Given the description of an element on the screen output the (x, y) to click on. 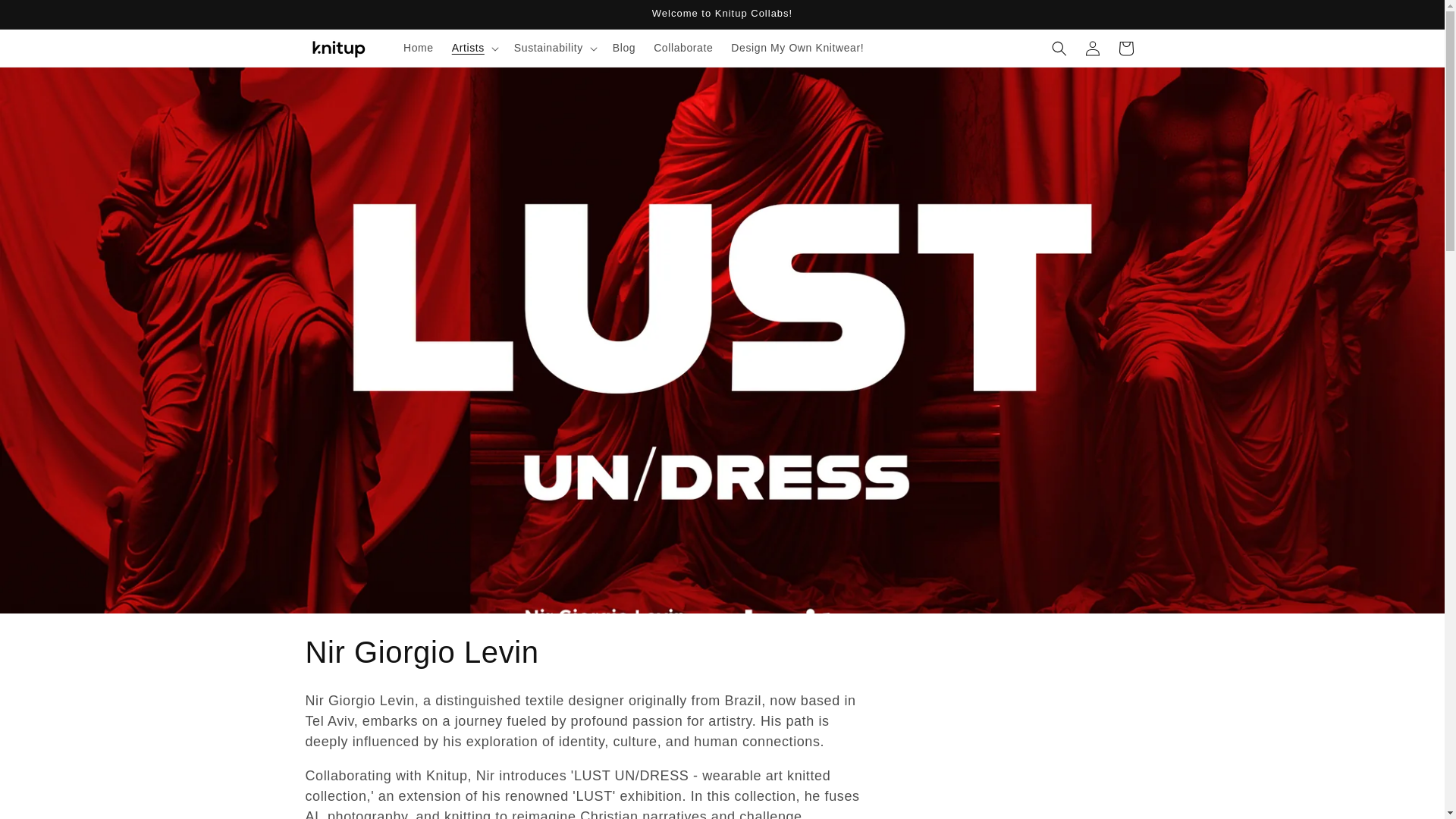
Home (418, 47)
Skip to content (45, 17)
